Given the description of an element on the screen output the (x, y) to click on. 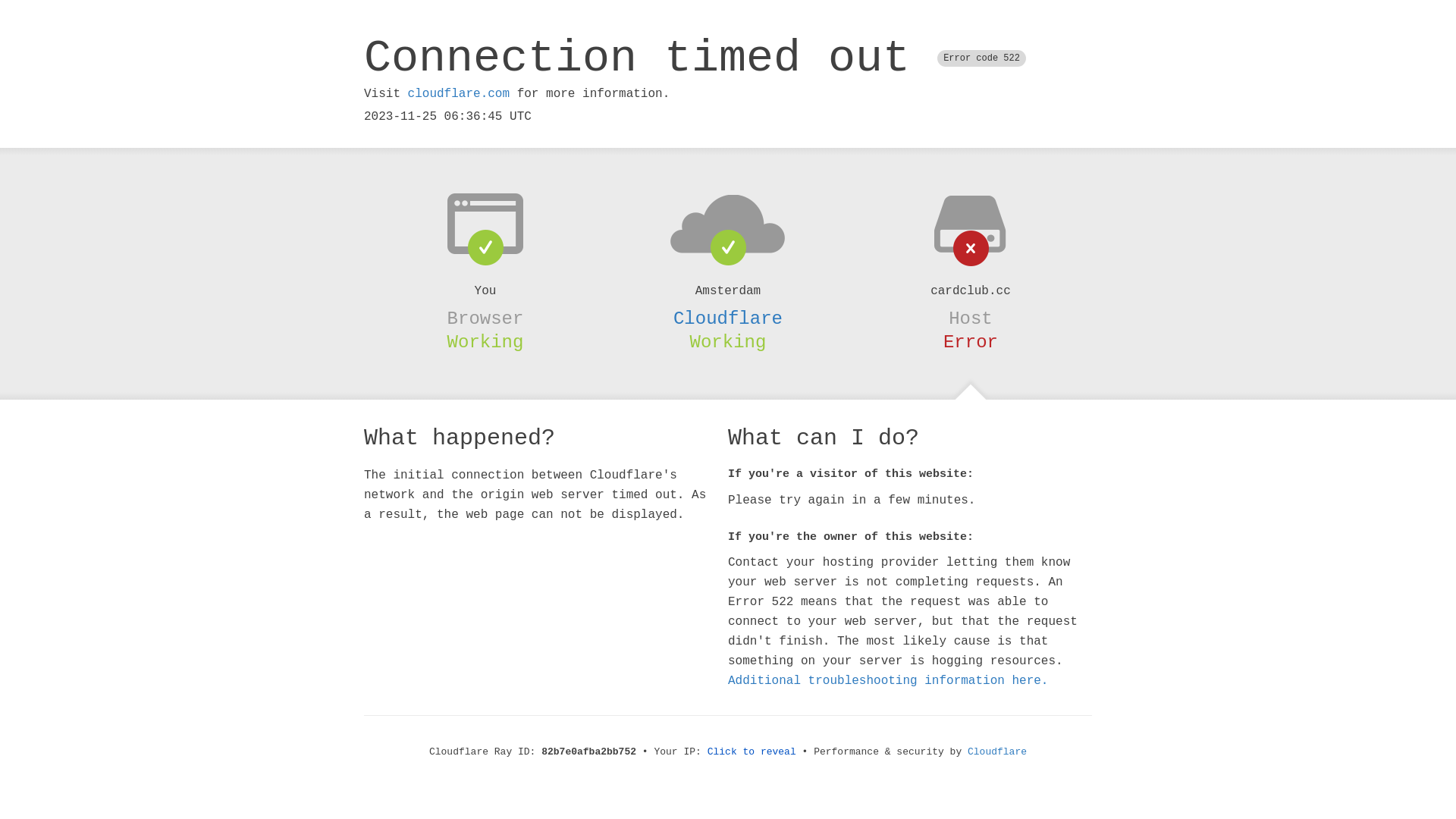
Additional troubleshooting information here. Element type: text (888, 680)
Click to reveal Element type: text (751, 751)
Cloudflare Element type: text (727, 318)
cloudflare.com Element type: text (458, 93)
Cloudflare Element type: text (996, 751)
